Given the description of an element on the screen output the (x, y) to click on. 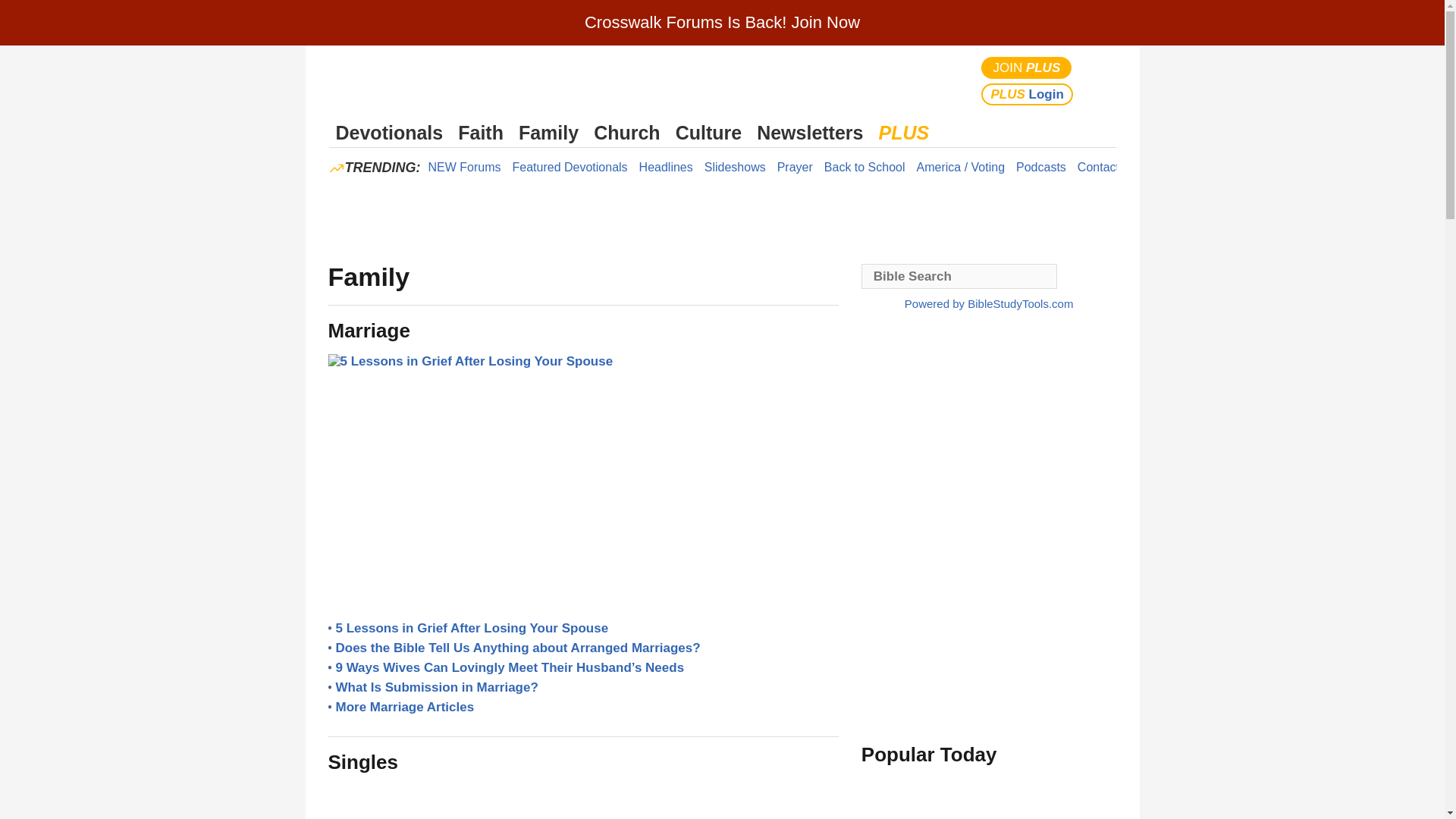
Slideshows (734, 166)
Faith (481, 132)
JOIN PLUS (1026, 67)
Newsletters (809, 132)
PLUS (903, 132)
Prayer (794, 166)
Devotionals (389, 132)
Family (548, 132)
Search (1101, 80)
Church (626, 132)
